Given the description of an element on the screen output the (x, y) to click on. 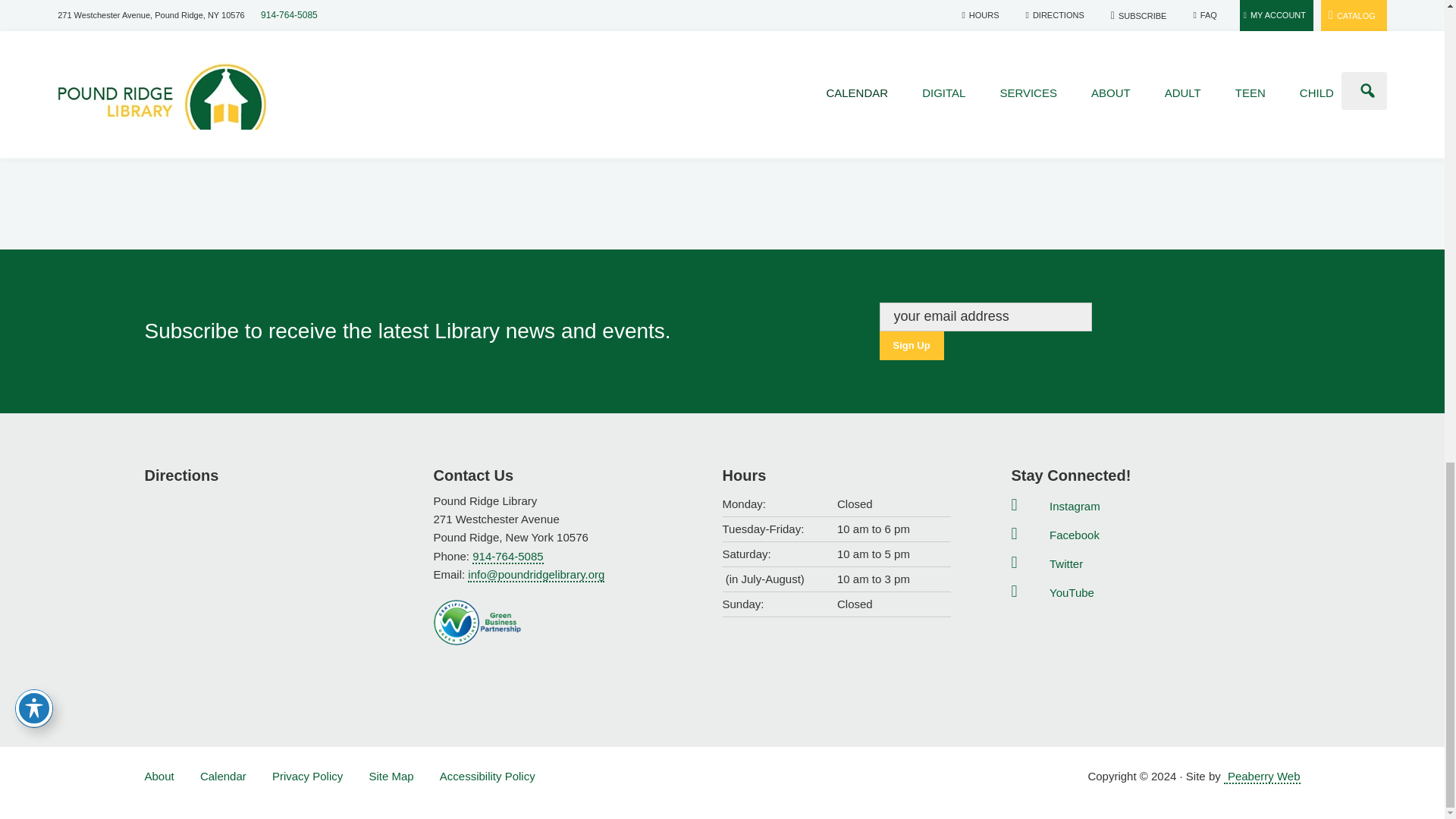
Sign Up (911, 345)
